Given the description of an element on the screen output the (x, y) to click on. 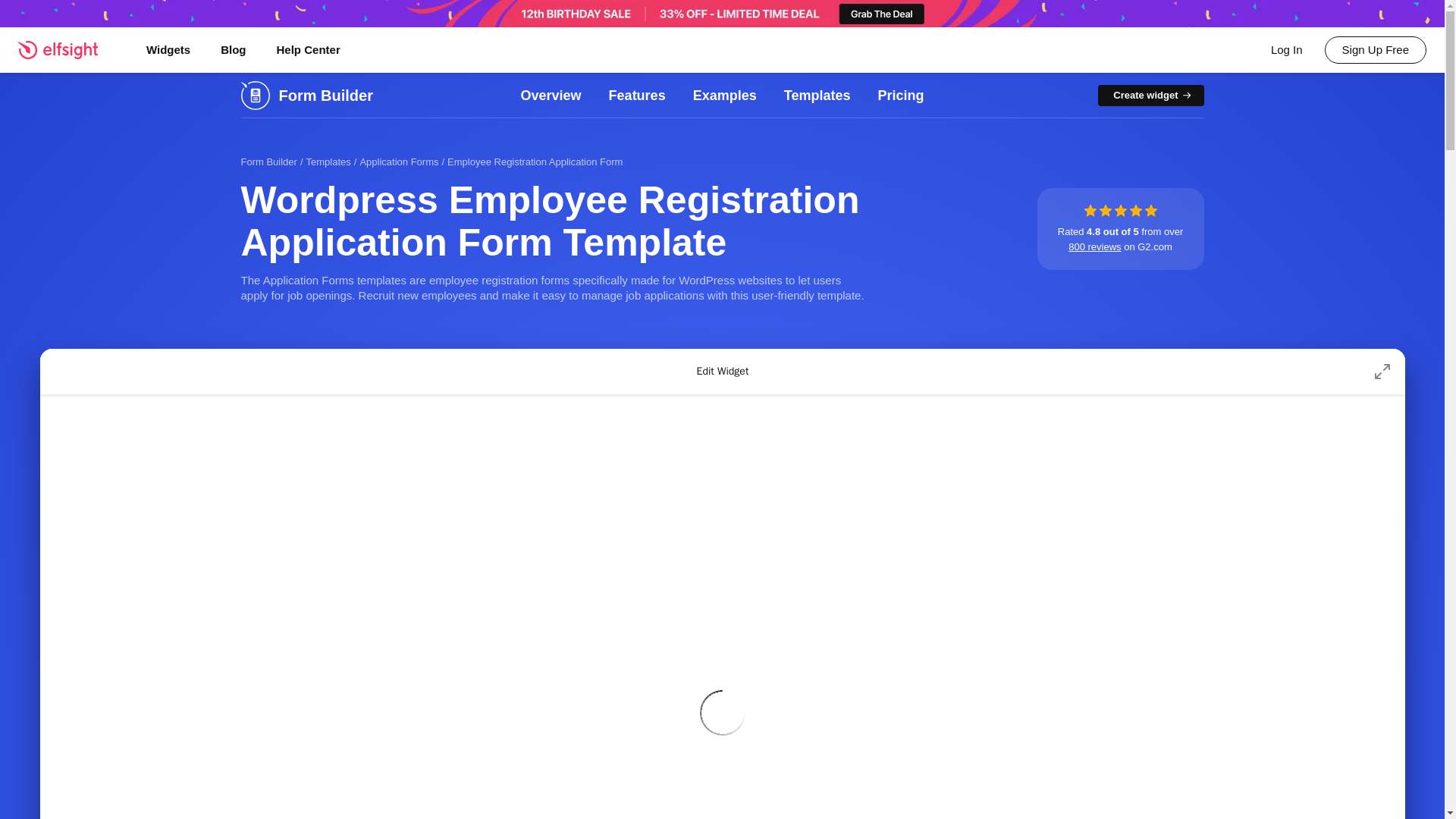
Elfsight - Premium Plugins For Websites (66, 49)
Full Screen (1381, 370)
Widgets (168, 49)
